Given the description of an element on the screen output the (x, y) to click on. 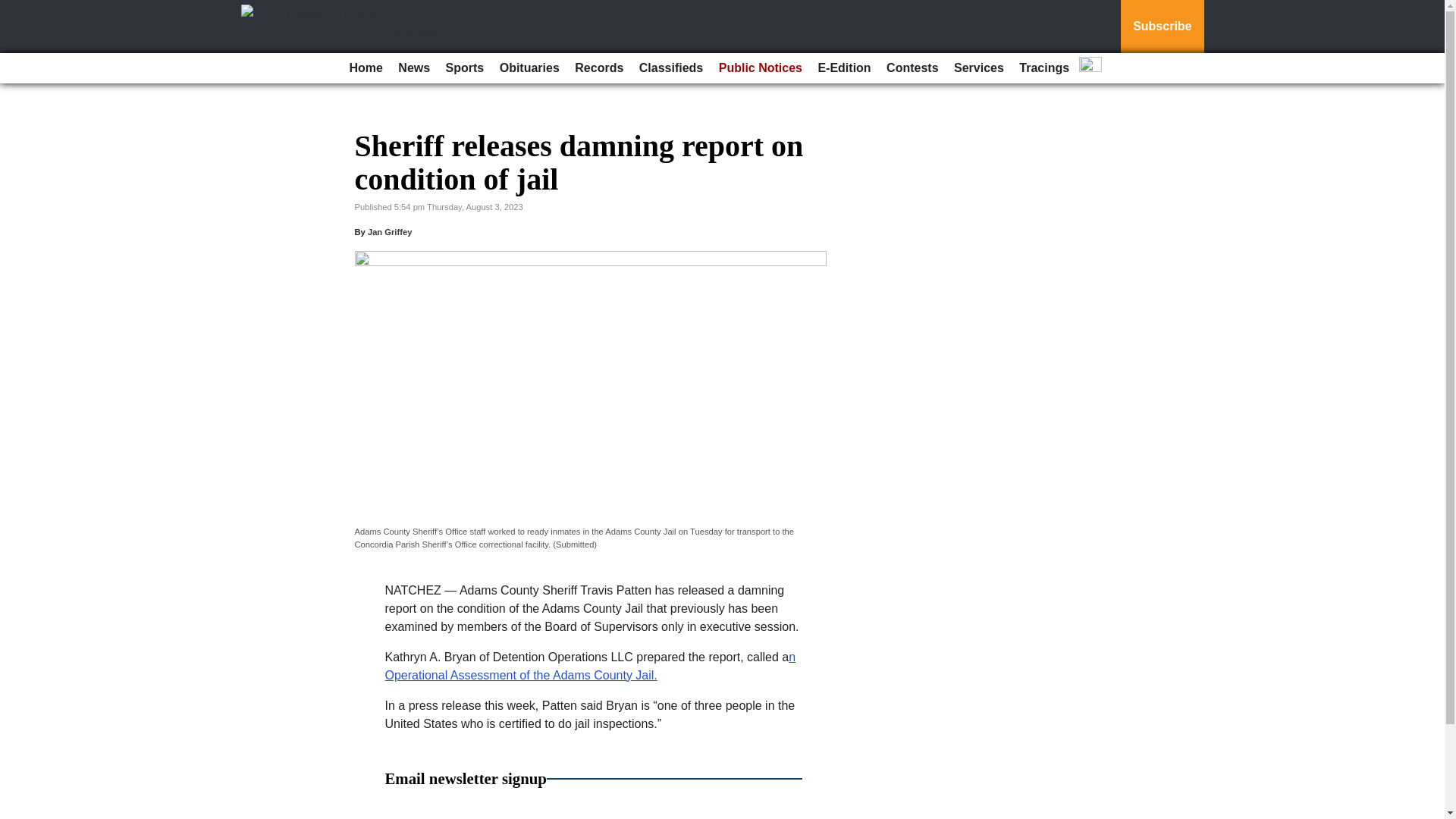
Obituaries (529, 68)
Sports (464, 68)
Subscribe (1162, 26)
Services (978, 68)
Records (598, 68)
Contests (911, 68)
Go (13, 9)
Home (365, 68)
n Operational Assessment of the Adams County Jail. (590, 665)
News (413, 68)
